Given the description of an element on the screen output the (x, y) to click on. 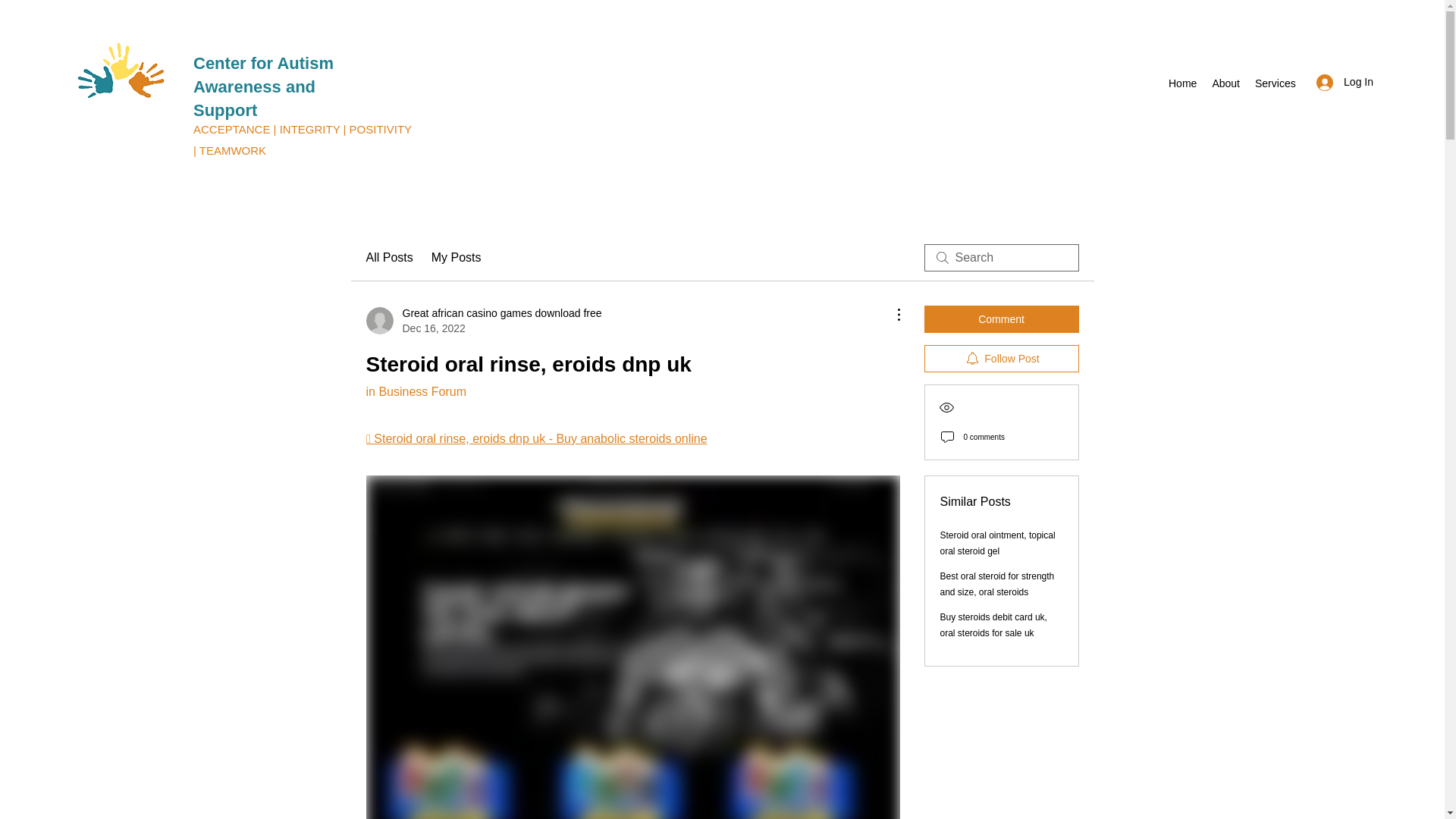
All Posts (388, 257)
Log In (1345, 81)
Follow Post (1000, 358)
Home (1182, 83)
My Posts (455, 257)
Buy steroids debit card uk, oral steroids for sale uk (993, 624)
About (1225, 83)
Steroid oral ointment, topical oral steroid gel (997, 542)
Best oral steroid for strength and size, oral steroids (997, 583)
Services (1275, 83)
